Given the description of an element on the screen output the (x, y) to click on. 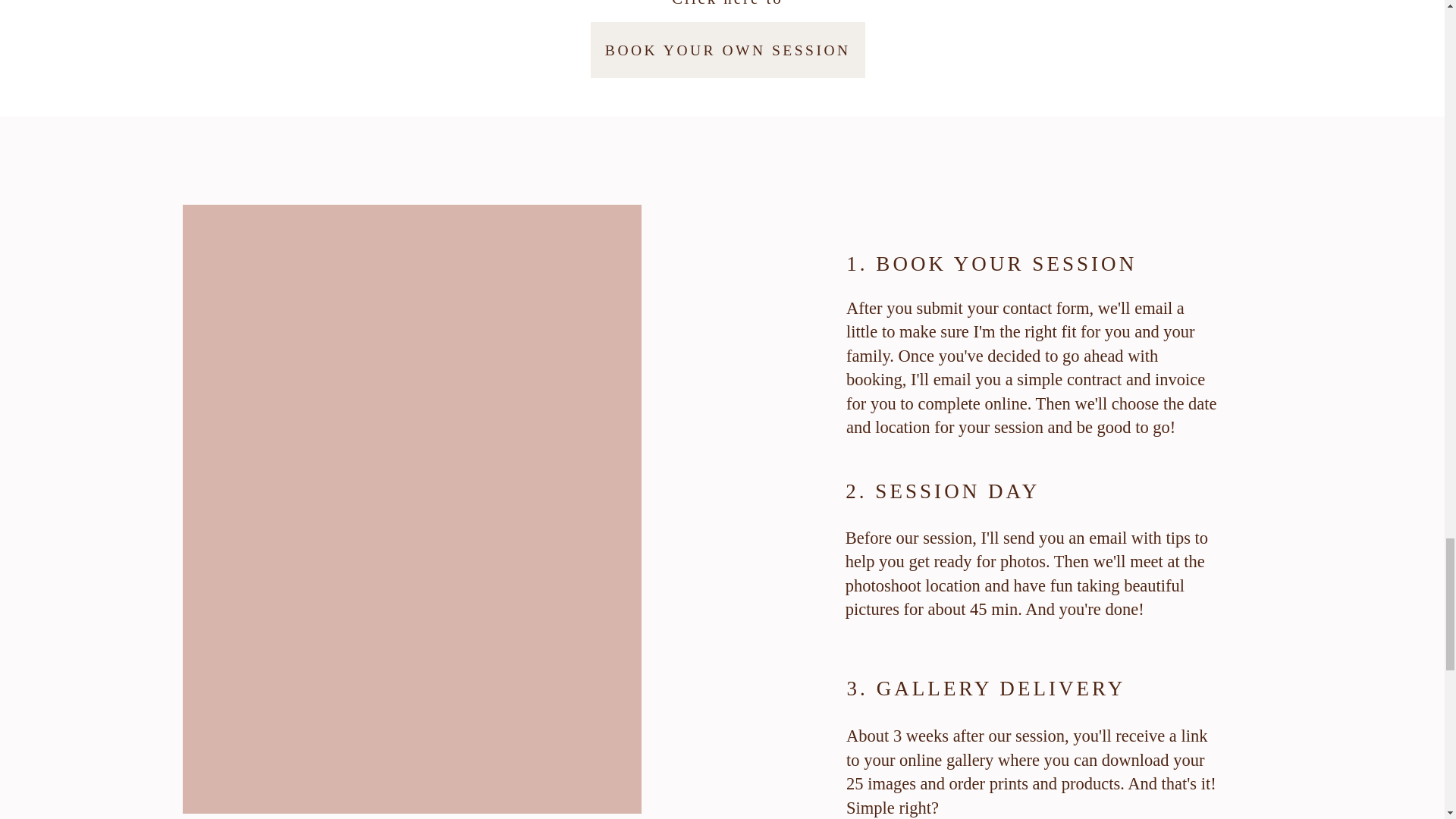
BOOK YOUR OWN SESSION (727, 49)
